Given the description of an element on the screen output the (x, y) to click on. 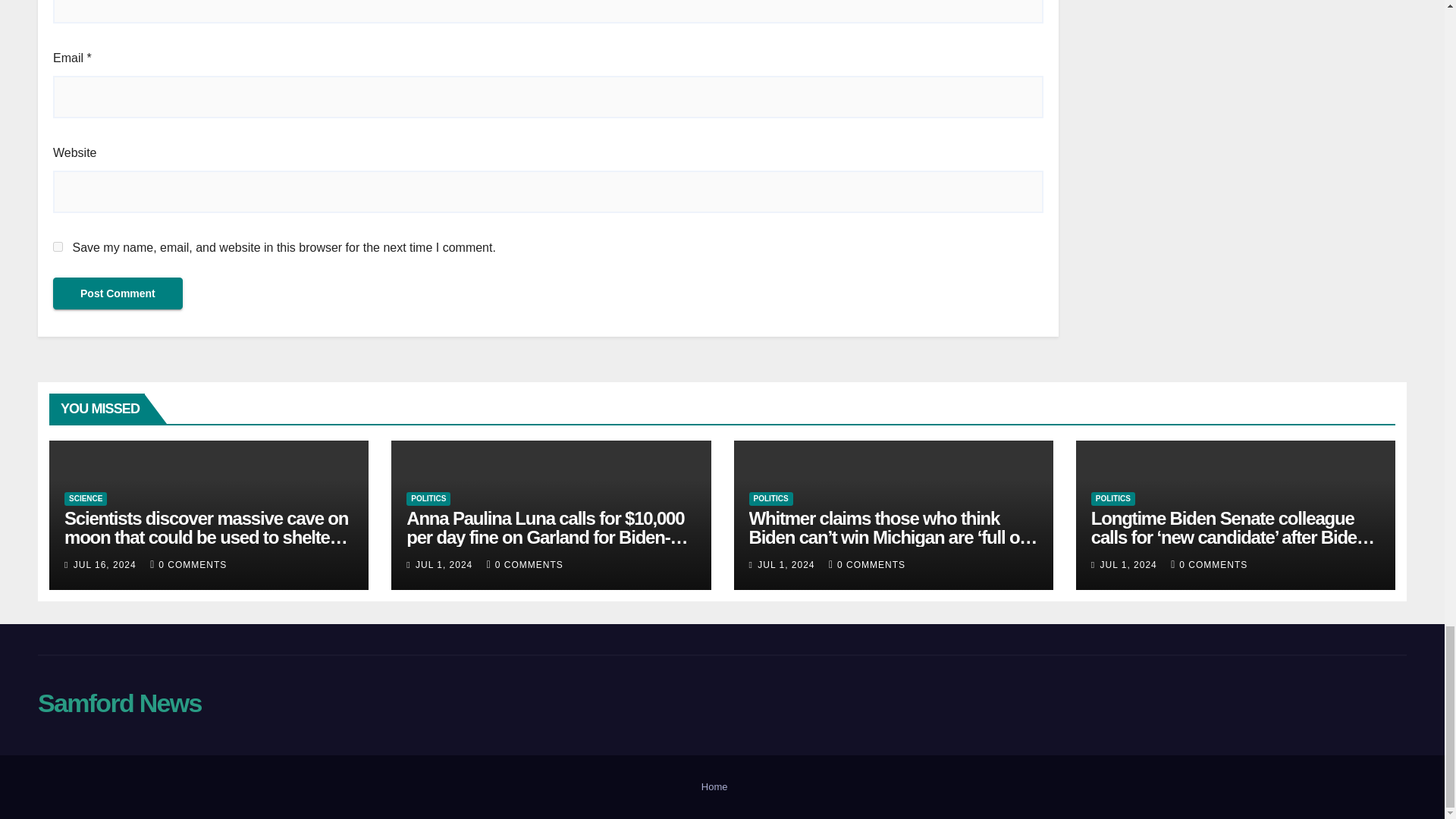
yes (57, 246)
Post Comment (117, 293)
Post Comment (117, 293)
